Given the description of an element on the screen output the (x, y) to click on. 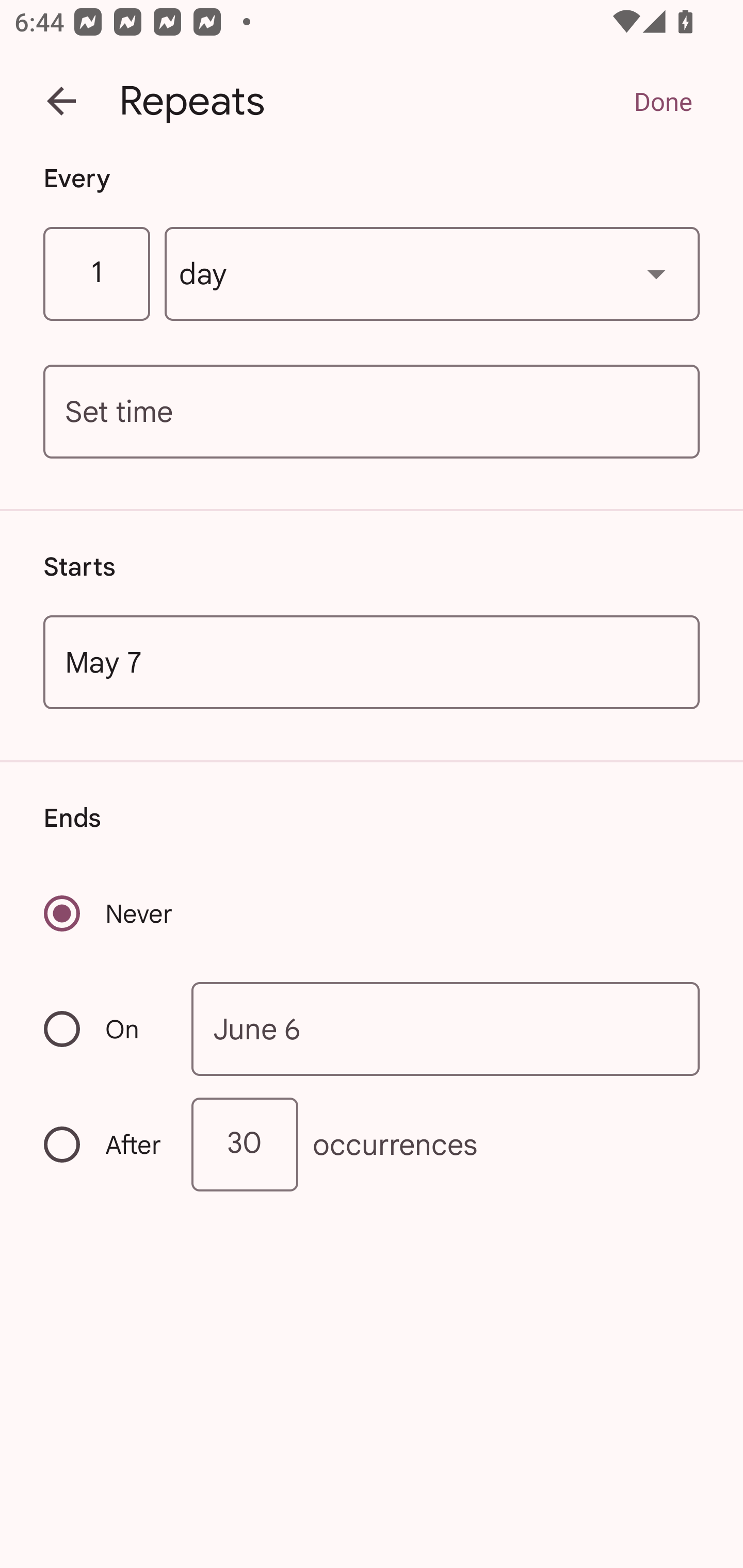
Back (61, 101)
Done (663, 101)
1 (96, 274)
day (431, 274)
Show dropdown menu (655, 273)
Set time (371, 411)
May 7 (371, 661)
Never Recurrence never ends (109, 913)
June 6 (445, 1028)
On Recurrence ends on a specific date (104, 1029)
30 (244, 1144)
